Given the description of an element on the screen output the (x, y) to click on. 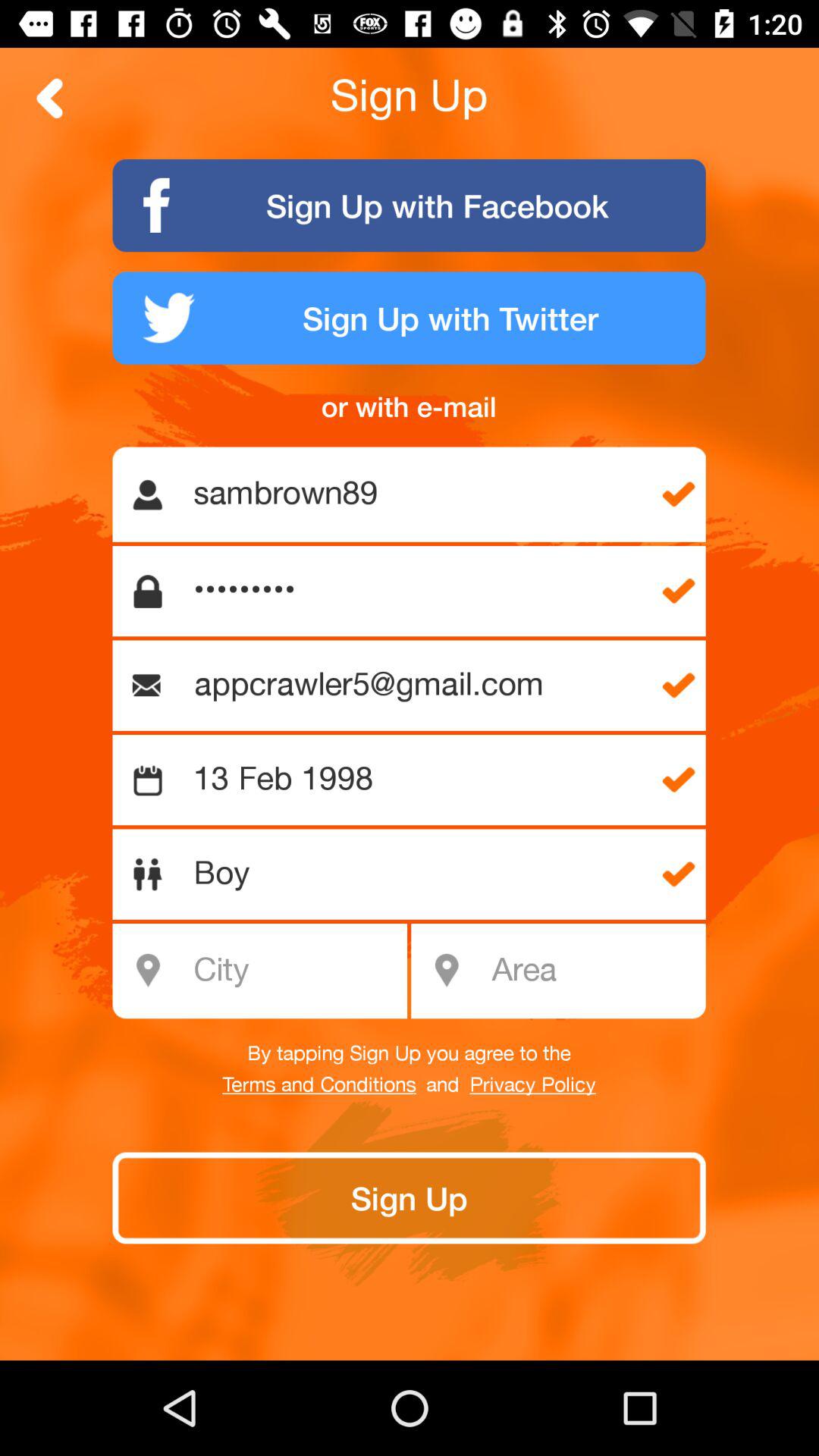
enter area code (593, 970)
